Given the description of an element on the screen output the (x, y) to click on. 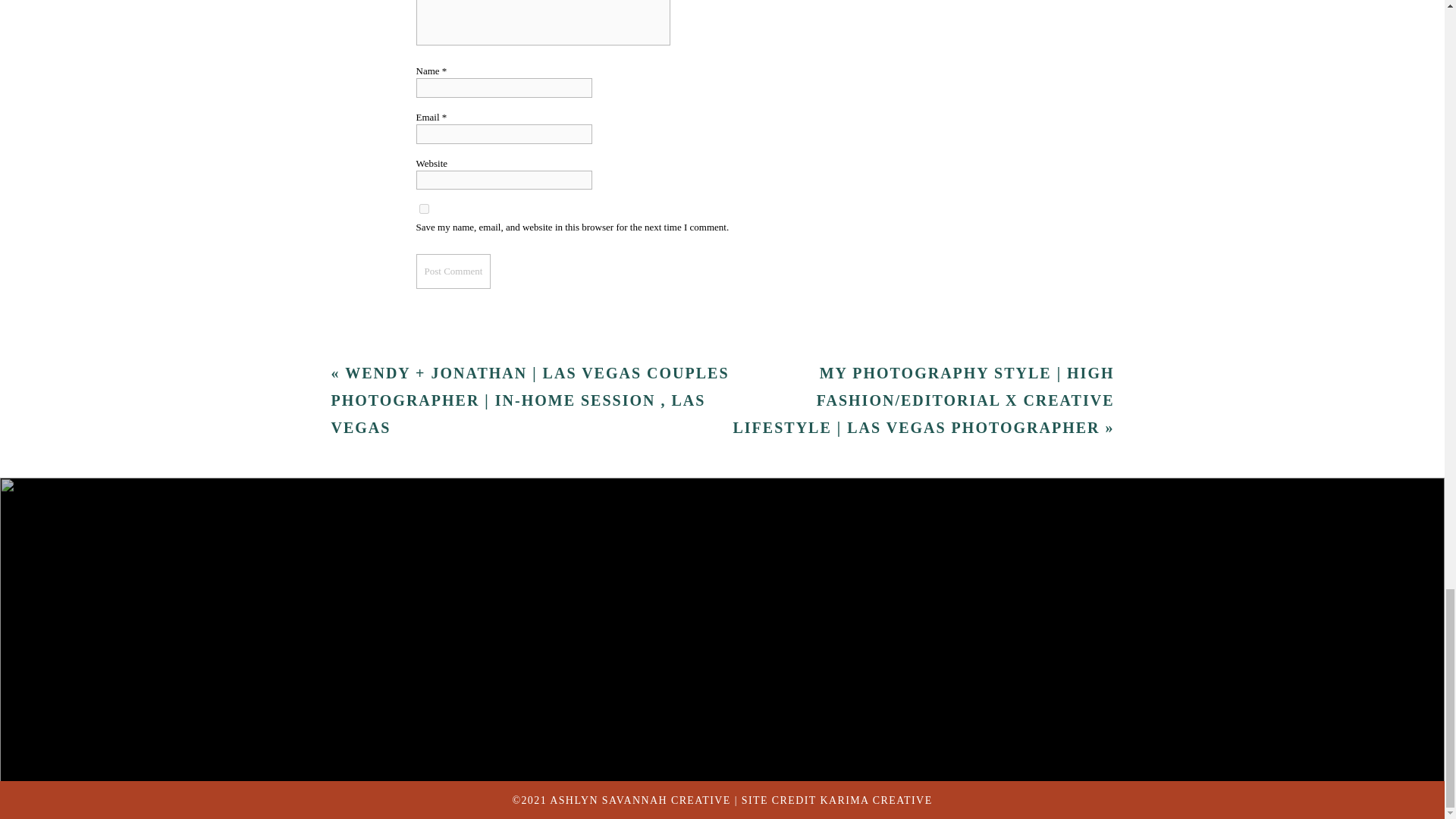
yes (423, 208)
Post Comment (452, 270)
Post Comment (452, 270)
